Given the description of an element on the screen output the (x, y) to click on. 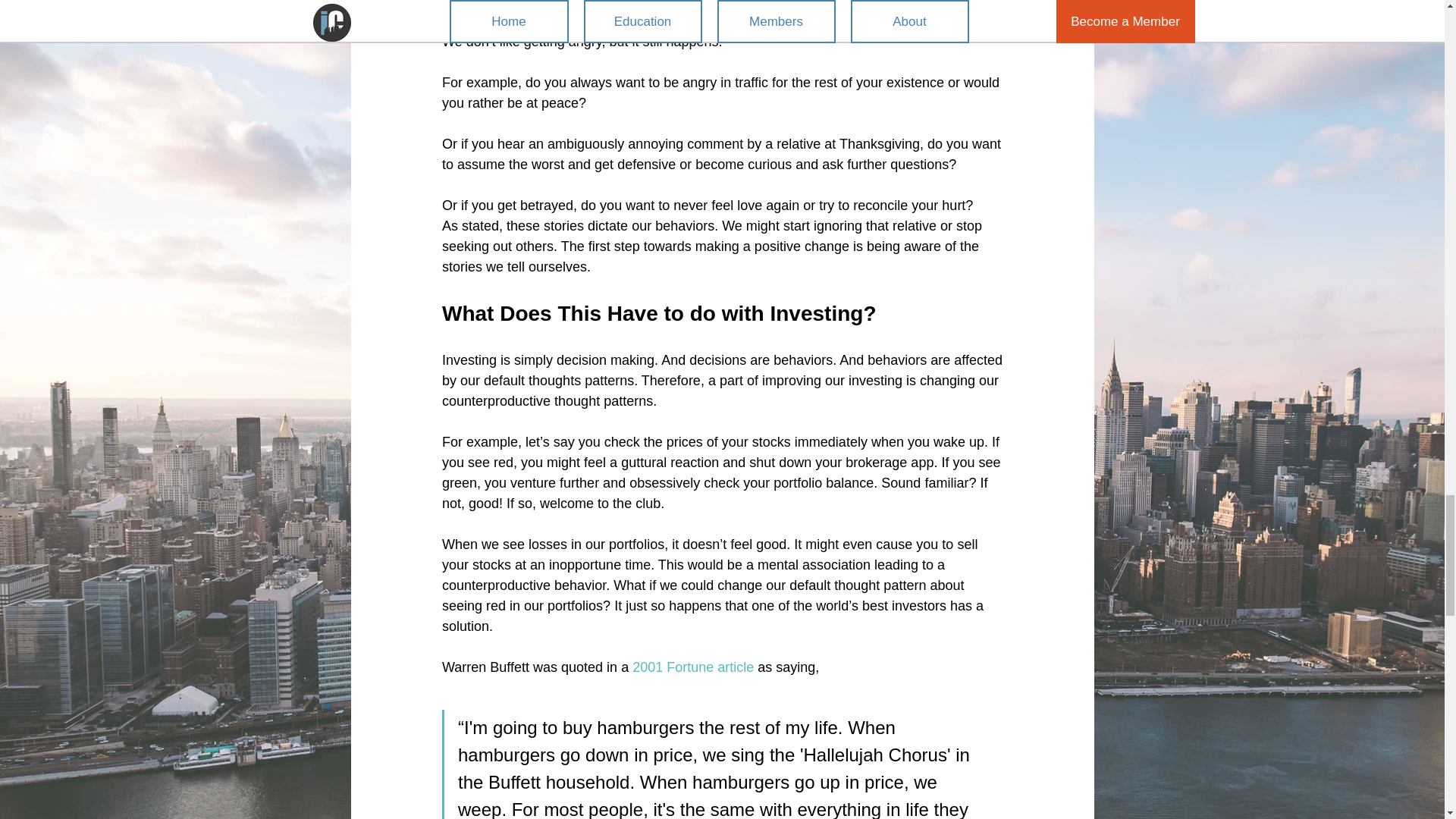
2001 Fortune article (692, 667)
